Given the description of an element on the screen output the (x, y) to click on. 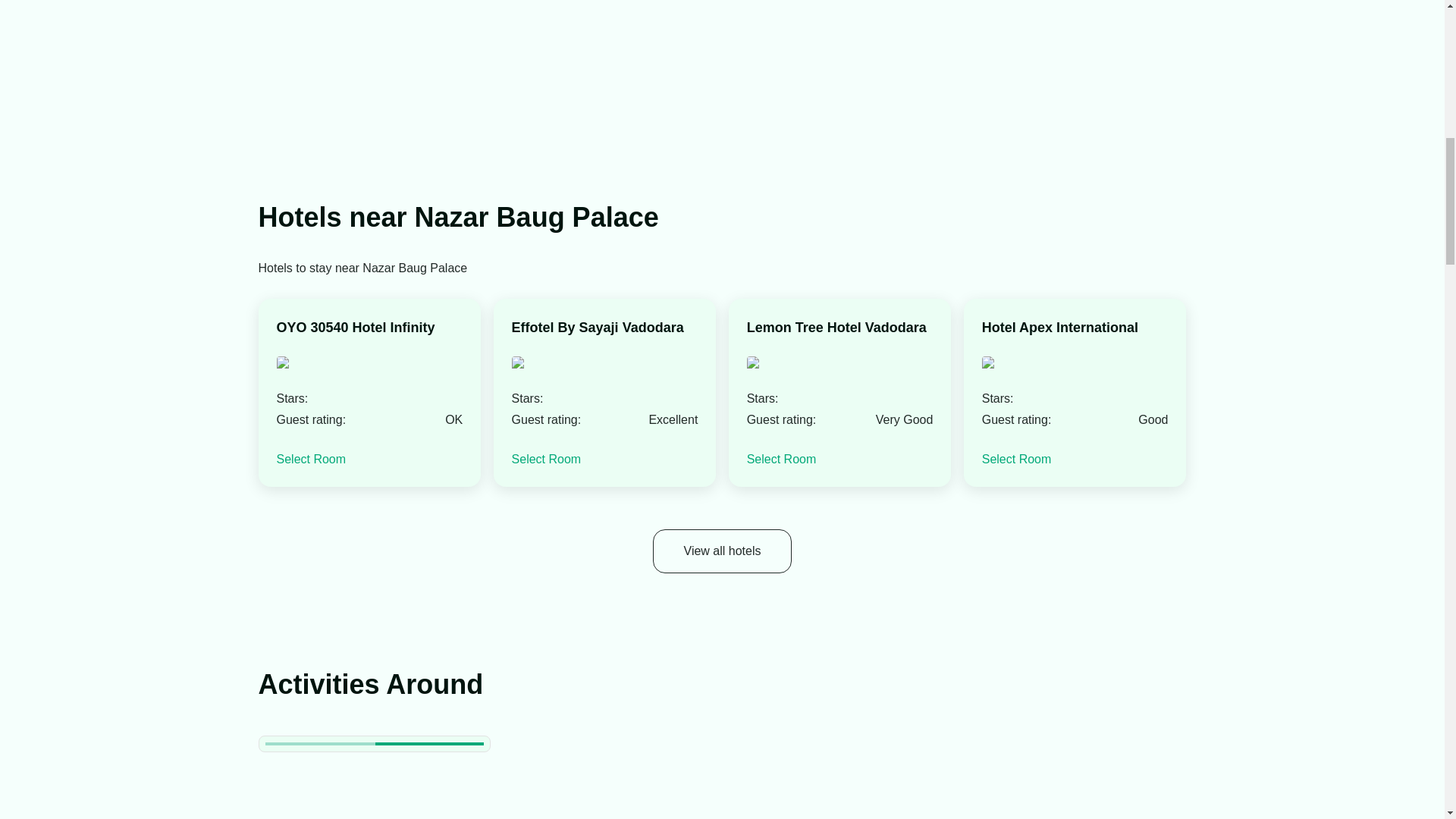
Select Room (1016, 459)
View all hotels (722, 551)
OYO 30540 Hotel Infinity (354, 327)
Effotel By Sayaji Vadodara (598, 327)
Select Room (781, 459)
Lemon Tree Hotel Vadodara (836, 327)
Select Room (311, 459)
Hotel Apex International (1059, 327)
Select Room (546, 459)
